Given the description of an element on the screen output the (x, y) to click on. 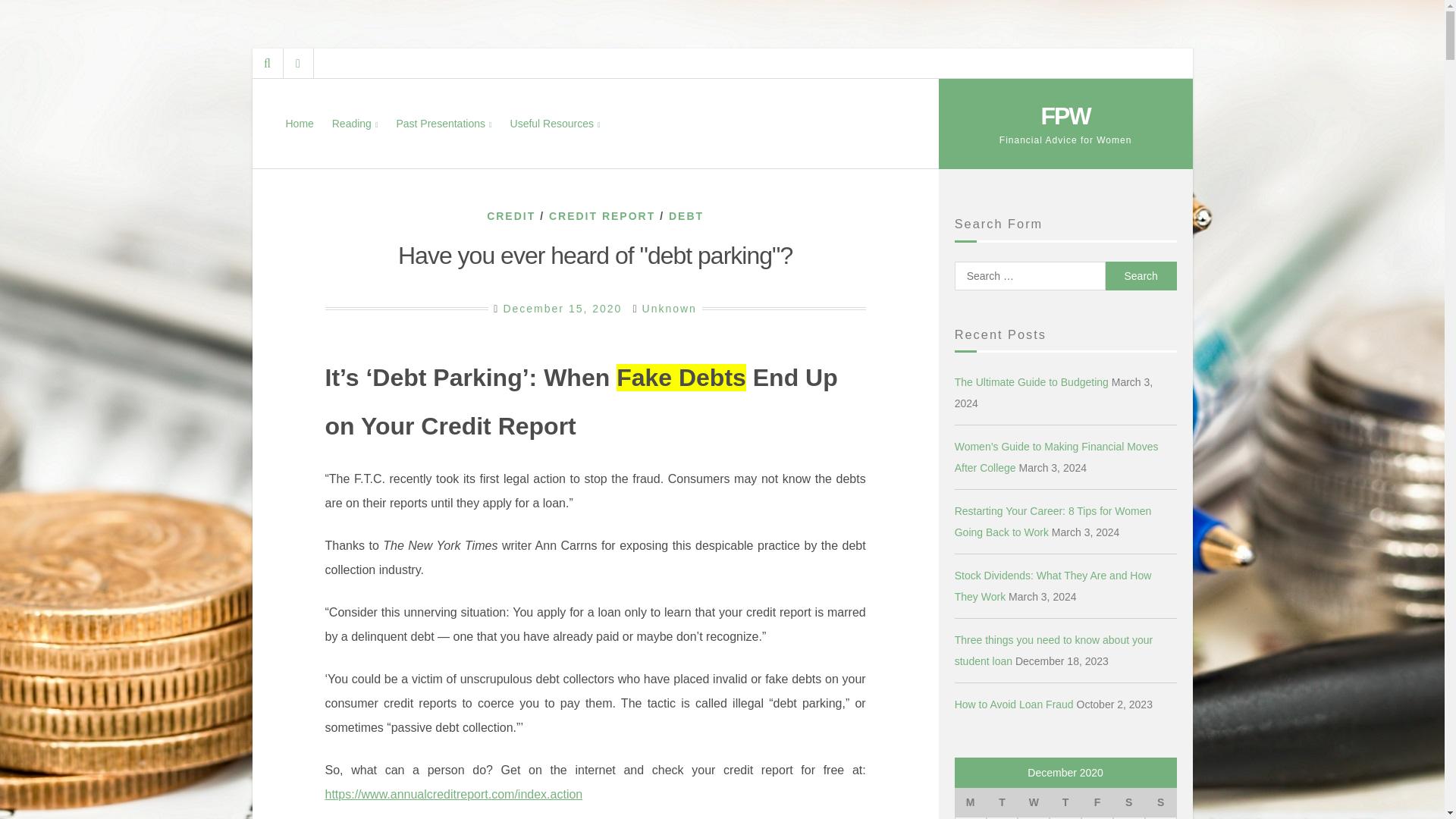
Home (299, 123)
Search (1140, 275)
CREDIT (510, 215)
Sunday (1160, 801)
FPW (1065, 114)
Search (1140, 275)
The Ultimate Guide to Budgeting (1031, 381)
Restarting Your Career: 8 Tips for Women Going Back to Work (1053, 521)
Past Presentations (443, 123)
Monday (971, 801)
Reading (354, 123)
Thursday (1065, 801)
CREDIT REPORT (601, 215)
Friday (1097, 801)
